Given the description of an element on the screen output the (x, y) to click on. 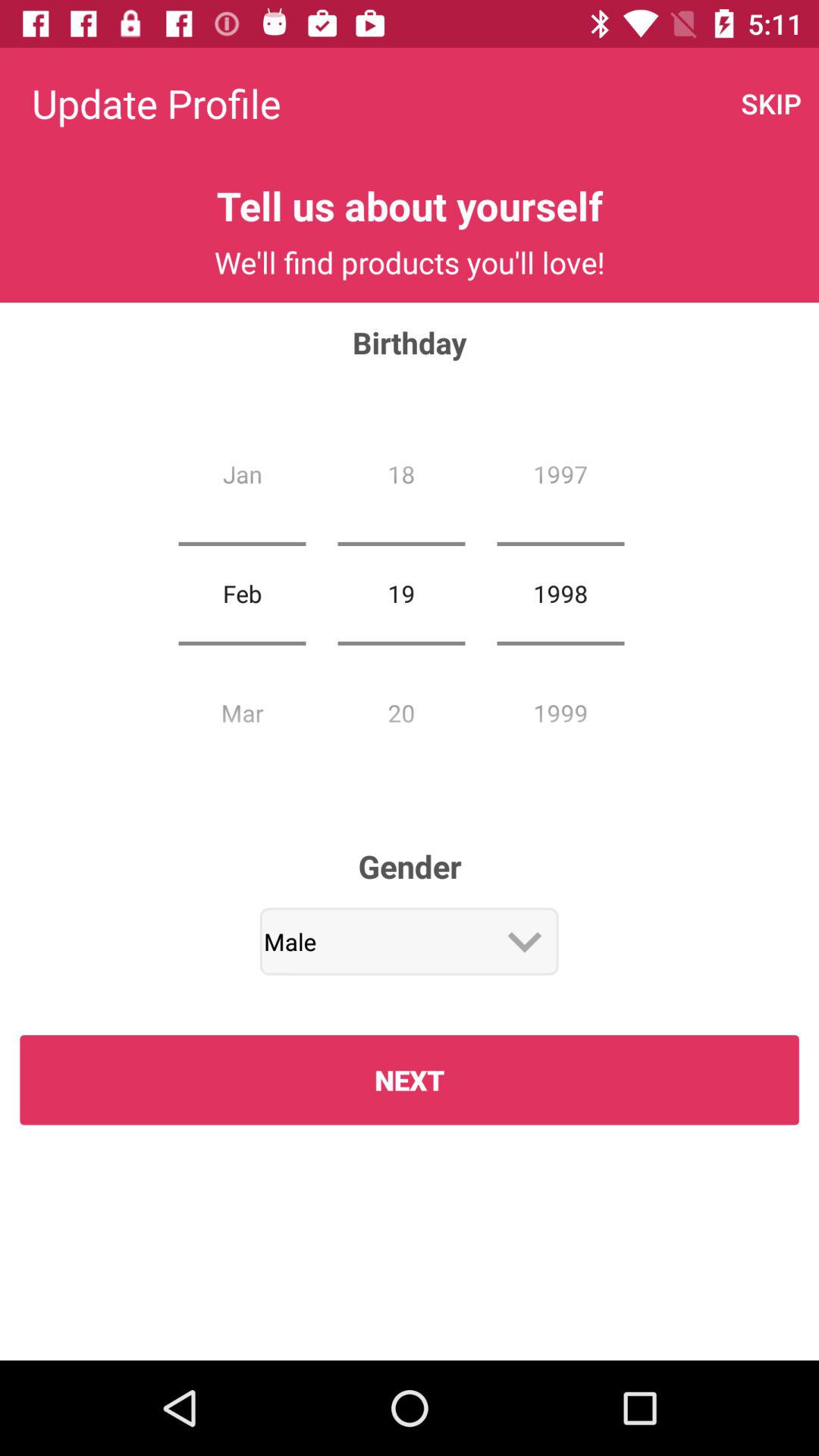
choose the icon to the right of the feb icon (401, 593)
